Given the description of an element on the screen output the (x, y) to click on. 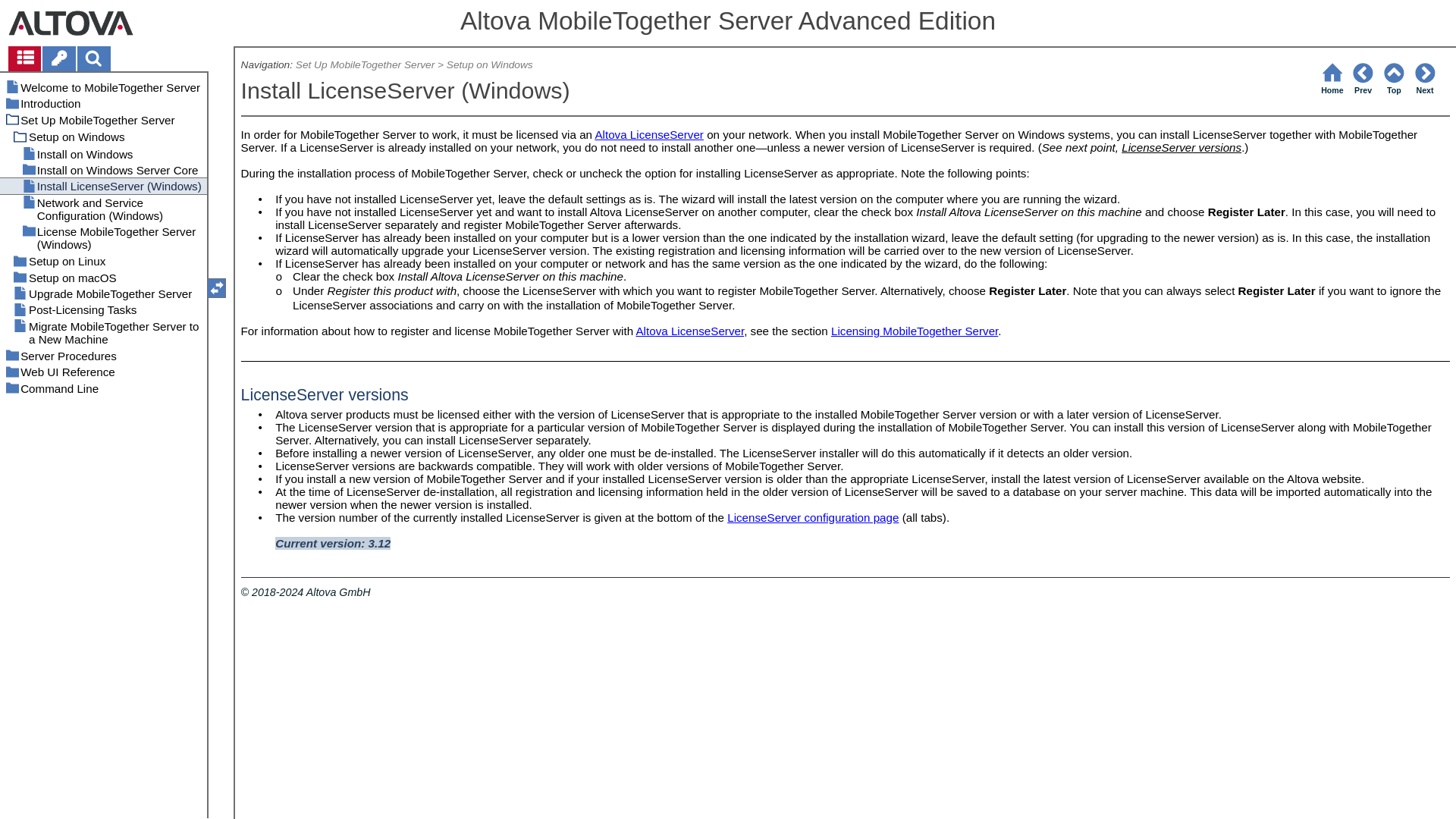
Table of Contents (25, 58)
Migrate MobileTogether Server to a New Machine (103, 331)
Setup on macOS (103, 277)
Welcome to MobileTogether Server (103, 87)
Setup on Linux (103, 261)
Setup on Windows (103, 136)
Index (58, 58)
Install on Windows Server Core (103, 170)
Post-Licensing Tasks (103, 309)
Install on Windows (103, 153)
